Given the description of an element on the screen output the (x, y) to click on. 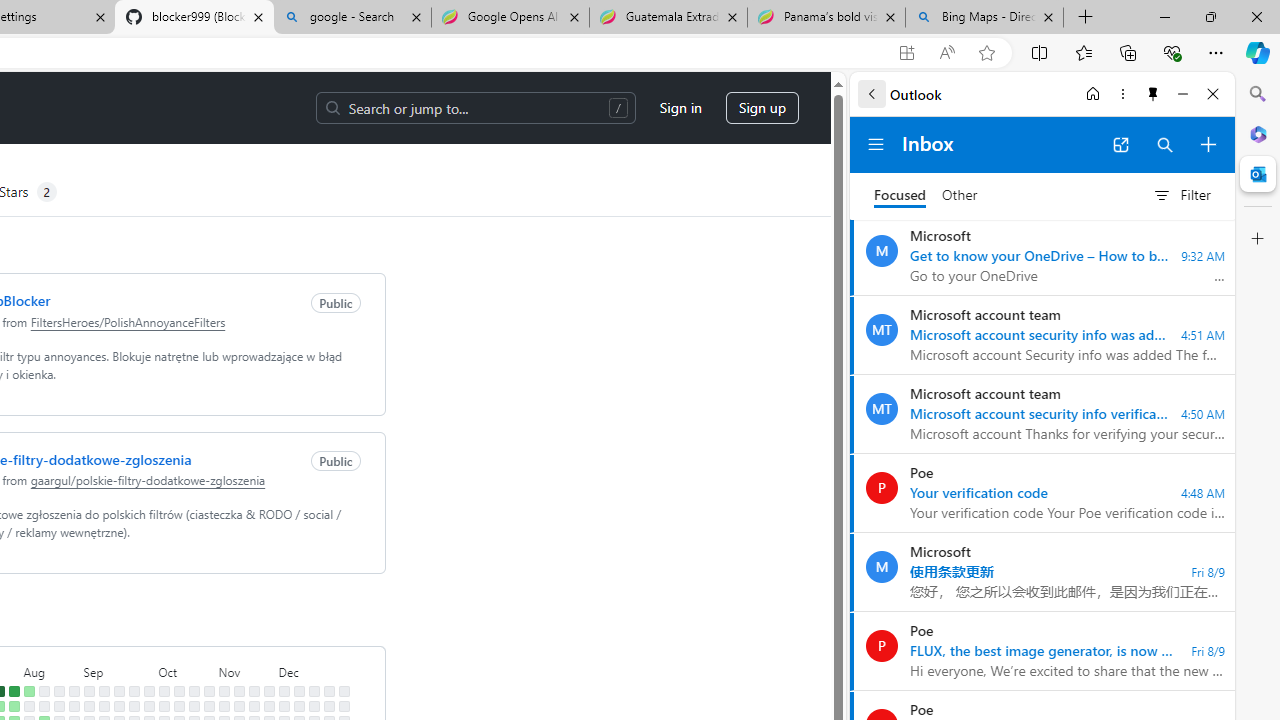
No contributions on December 29th. (343, 691)
No contributions on October 7th. (163, 706)
No contributions on October 13th. (178, 691)
November (246, 670)
No contributions on December 2nd. (283, 706)
No contributions on October 21st. (193, 706)
No contributions on October 27th. (209, 691)
No contributions on October 20th. (193, 691)
No contributions on November 3rd. (223, 691)
No contributions on December 9th. (298, 706)
No contributions on September 15th. (118, 691)
No contributions on October 14th. (178, 706)
